Given the description of an element on the screen output the (x, y) to click on. 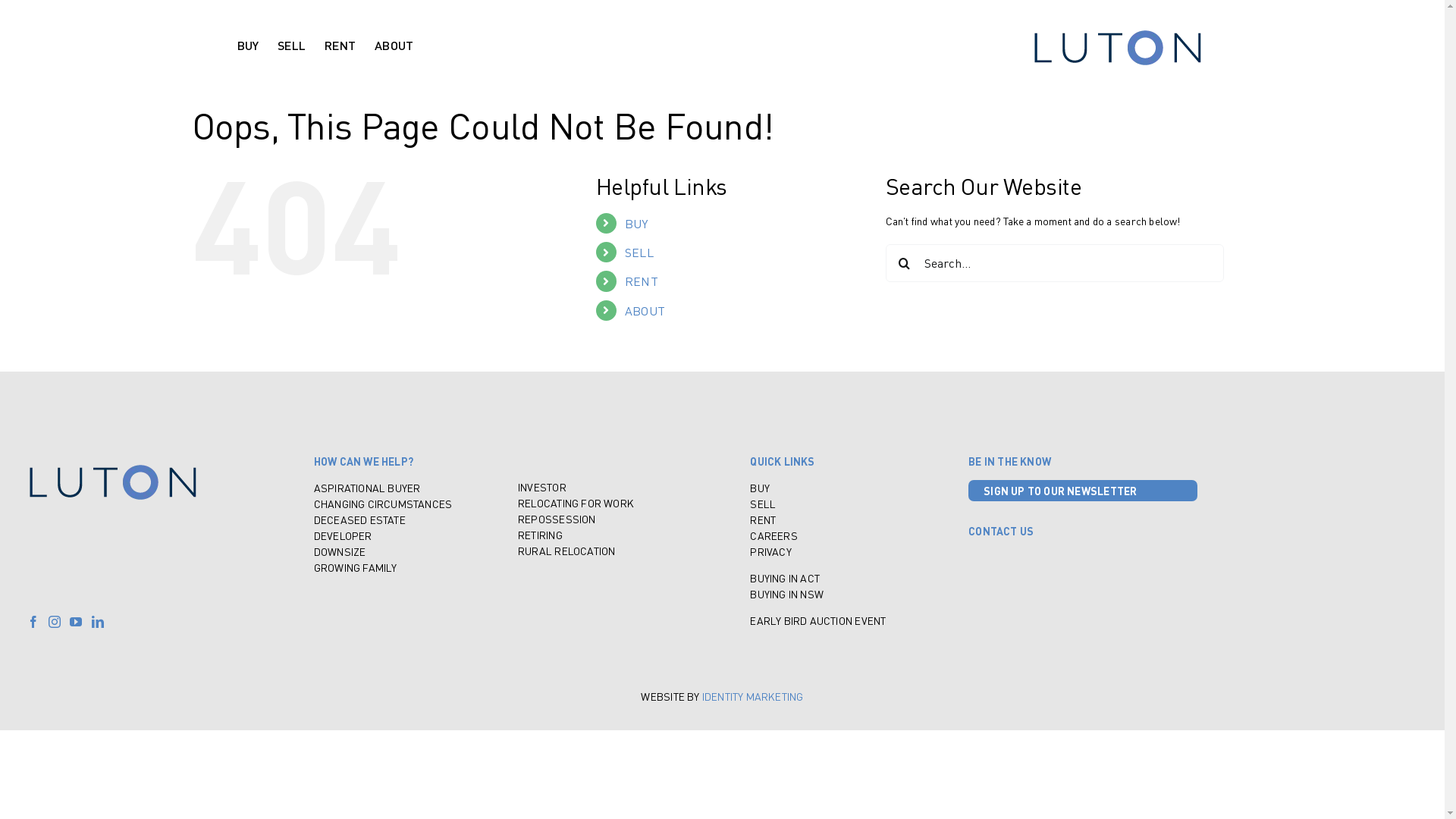
BUYING IN NSW Element type: text (786, 593)
RURAL RELOCATION Element type: text (566, 549)
IDENTITY MARKETING Element type: text (752, 695)
SELL Element type: text (762, 502)
BUYING IN ACT Element type: text (784, 576)
CHANGING CIRCUMSTANCES Element type: text (382, 502)
DOWNSIZE Element type: text (339, 551)
RENT Element type: text (339, 45)
RENT Element type: text (641, 280)
DEVELOPER Element type: text (342, 534)
ABOUT Element type: text (393, 45)
CAREERS Element type: text (773, 534)
RELOCATING FOR WORK Element type: text (575, 502)
DECEASED ESTATE Element type: text (359, 519)
LutonLogo Element type: hover (112, 482)
BUY Element type: text (247, 45)
RENT Element type: text (762, 519)
BUY Element type: text (636, 223)
BUY Element type: text (759, 487)
SELL Element type: text (638, 252)
RETIRING Element type: text (539, 534)
SIGN UP TO OUR NEWSLETTER Element type: text (1082, 490)
REPOSSESSION Element type: text (556, 517)
SELL Element type: text (291, 45)
EARLY BIRD AUCTION EVENT Element type: text (817, 619)
INVESTOR Element type: text (541, 485)
ABOUT Element type: text (644, 310)
ASPIRATIONAL BUYER Element type: text (366, 487)
CONTACT US Element type: text (1000, 530)
PRIVACY Element type: text (769, 551)
GROWING FAMILY Element type: text (355, 566)
